Given the description of an element on the screen output the (x, y) to click on. 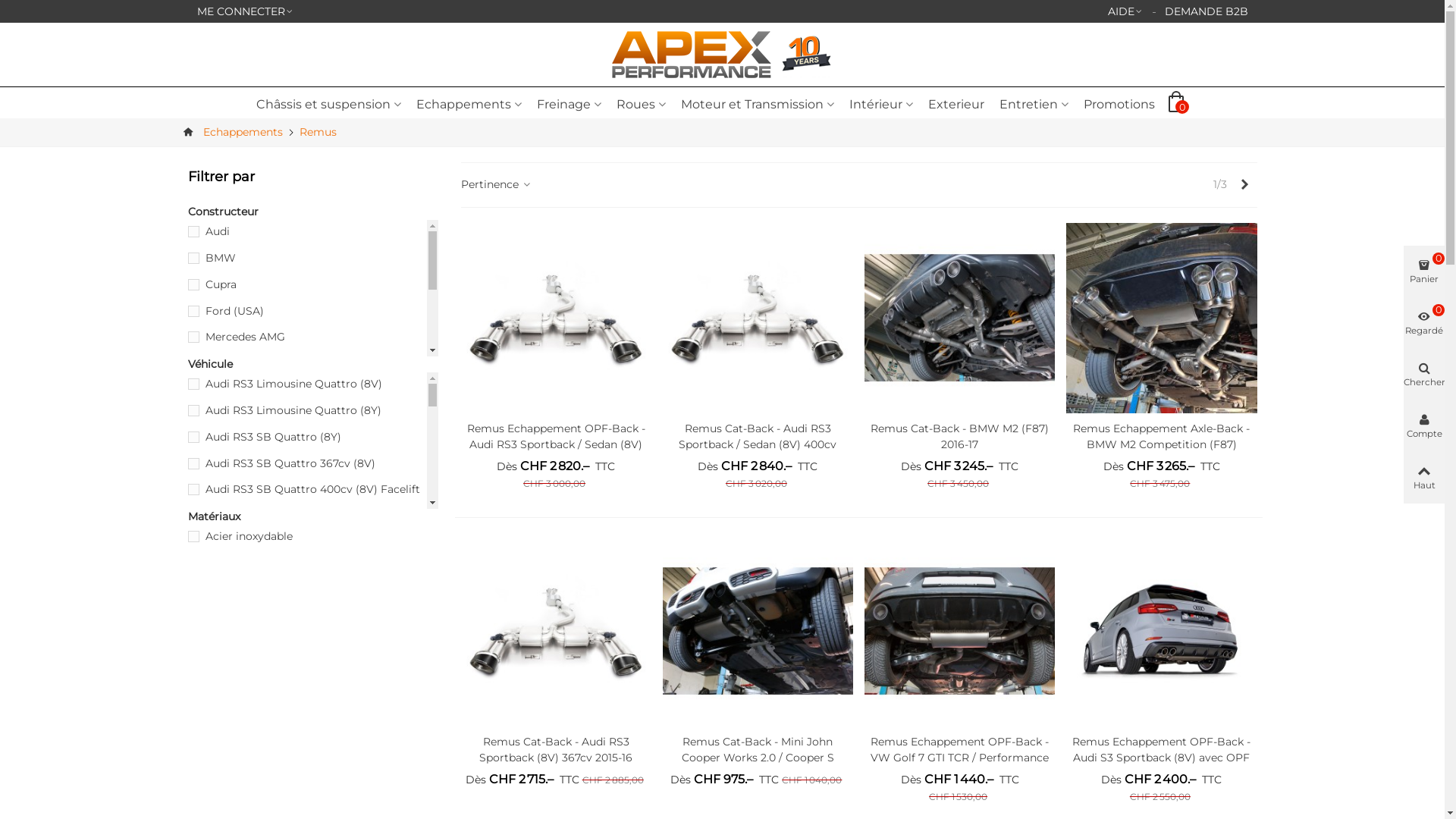
Toyota Element type: text (312, 443)
Panier
0 Element type: text (1423, 271)
  Element type: hover (193, 132)
Audi S3 SB Quattro (8V) Element type: text (312, 595)
Remus Echappement Axle-Back - BMW M2 Competition (F87) 2018+ Element type: hover (1161, 317)
Moteur et Transmission Element type: text (757, 104)
DEMANDE B2B Element type: text (1206, 11)
0 Element type: text (1178, 103)
Audi S3 SB Quattro (8V) Facelift Element type: text (312, 622)
BMW M2 (G87) Element type: text (312, 807)
Seat Element type: text (312, 390)
Audi S3 Quattro (8V) Element type: text (312, 542)
Volkswagen Element type: text (312, 469)
Pertinence Element type: text (496, 184)
Audi S3 Limousine Quattro (8Y) Element type: text (312, 516)
Echappements Element type: text (468, 104)
ME CONNECTER Element type: text (245, 11)
Suivant Element type: text (1245, 184)
Remus Cat-Back - Audi RS3 Sportback (8V) 367cv 2015-16 Element type: text (555, 749)
BMW 540i xDrive Berline (G30) Element type: text (312, 727)
Freinage Element type: text (568, 104)
BMW 540i xDrive Touring (G31) Element type: text (312, 754)
Acier inoxydable Element type: text (318, 536)
Echappements Element type: text (242, 132)
Audi RS3 SB Quattro 367cv (8V) Element type: text (312, 462)
Apex Performance Element type: hover (694, 54)
Remus Cat-Back - BMW M2 (F87) 2016-17 Element type: text (959, 436)
1/3 Element type: text (1219, 184)
Audi S3 Quattro (8V) Facelift Element type: text (312, 569)
BMW M2 (F87) Element type: text (312, 780)
Audi RS3 SB Quattro (8Y) Element type: text (312, 437)
Chercher Element type: text (1423, 374)
Mercedes AMG Element type: text (312, 337)
Audi RS3 SB Quattro 400cv (8V) Facelift Element type: text (312, 489)
Roues Element type: text (640, 104)
Compte Element type: text (1423, 425)
Audi S3 SB Quattro (8Y) Element type: text (312, 648)
Remus Cat-Back - Audi RS3 Sportback (8V) 367cv 2015-16 Element type: hover (556, 631)
Exterieur Element type: text (955, 104)
Mini Element type: text (312, 363)
Cupra Element type: text (312, 284)
Audi RS3 Limousine Quattro (8Y) Element type: text (312, 410)
Remus Element type: text (316, 132)
Promotions Element type: text (1119, 104)
Suzuki Element type: text (312, 416)
BMW 540i Berline (G30) Element type: text (312, 675)
Remus Echappement Axle-Back - BMW M2 Competition (F87) 2018+ Element type: text (1161, 444)
BMW Element type: text (312, 258)
BMW 540i Touring (G31) Element type: text (312, 701)
Remus Cat-Back - BMW M2 (F87) 2016-17 Element type: hover (959, 317)
Haut Element type: text (1423, 477)
Ford (USA) Element type: text (312, 311)
Audi RS3 Limousine Quattro (8V) Element type: text (312, 384)
Audi Element type: text (312, 231)
Entretien Element type: text (1033, 104)
